Given the description of an element on the screen output the (x, y) to click on. 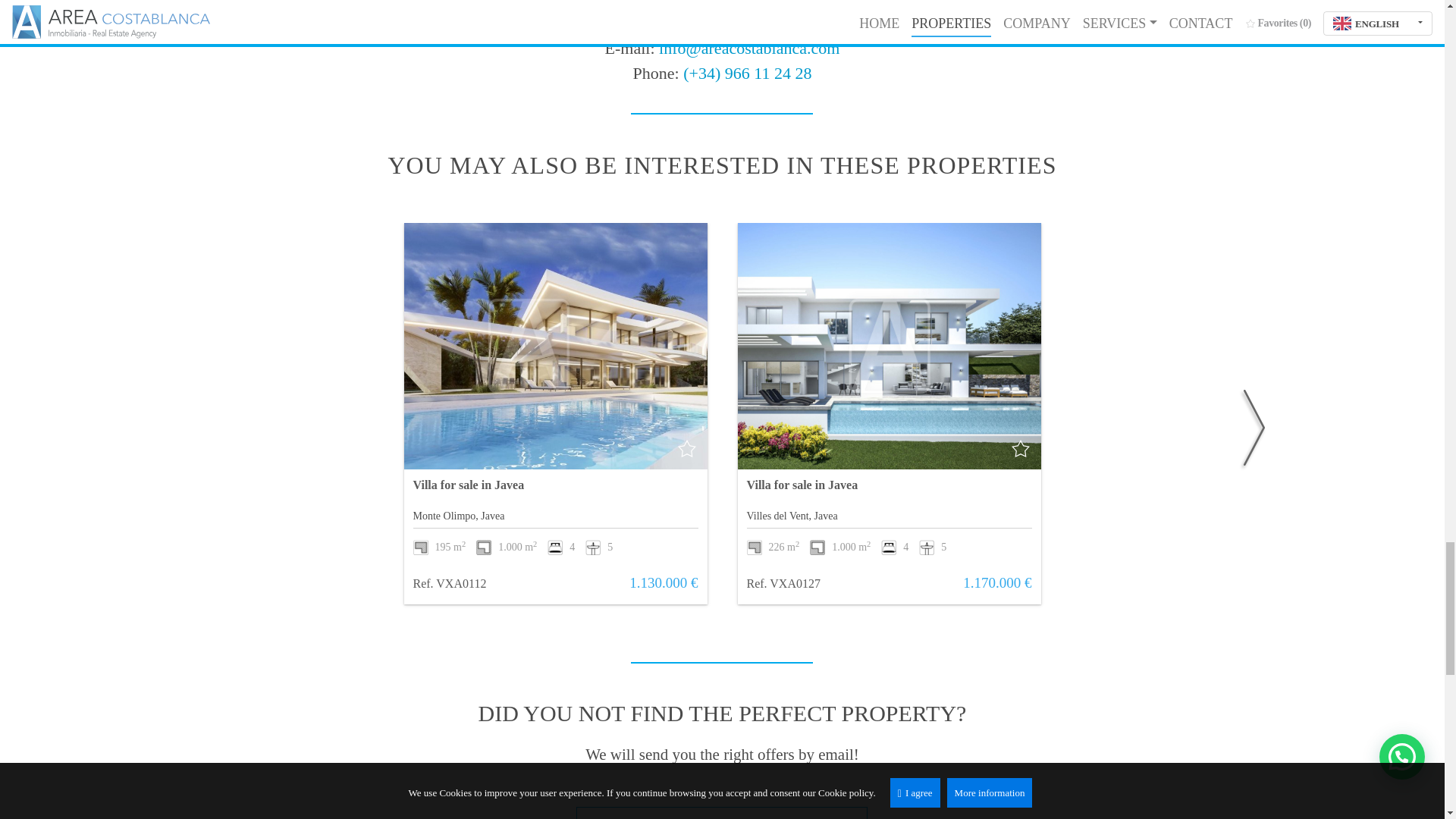
Plot Size approx. (839, 546)
Plot Size approx. (506, 546)
Bedrooms (561, 546)
Build Size approx. (438, 546)
Bathrooms (598, 546)
Build Size approx. (772, 546)
